Given the description of an element on the screen output the (x, y) to click on. 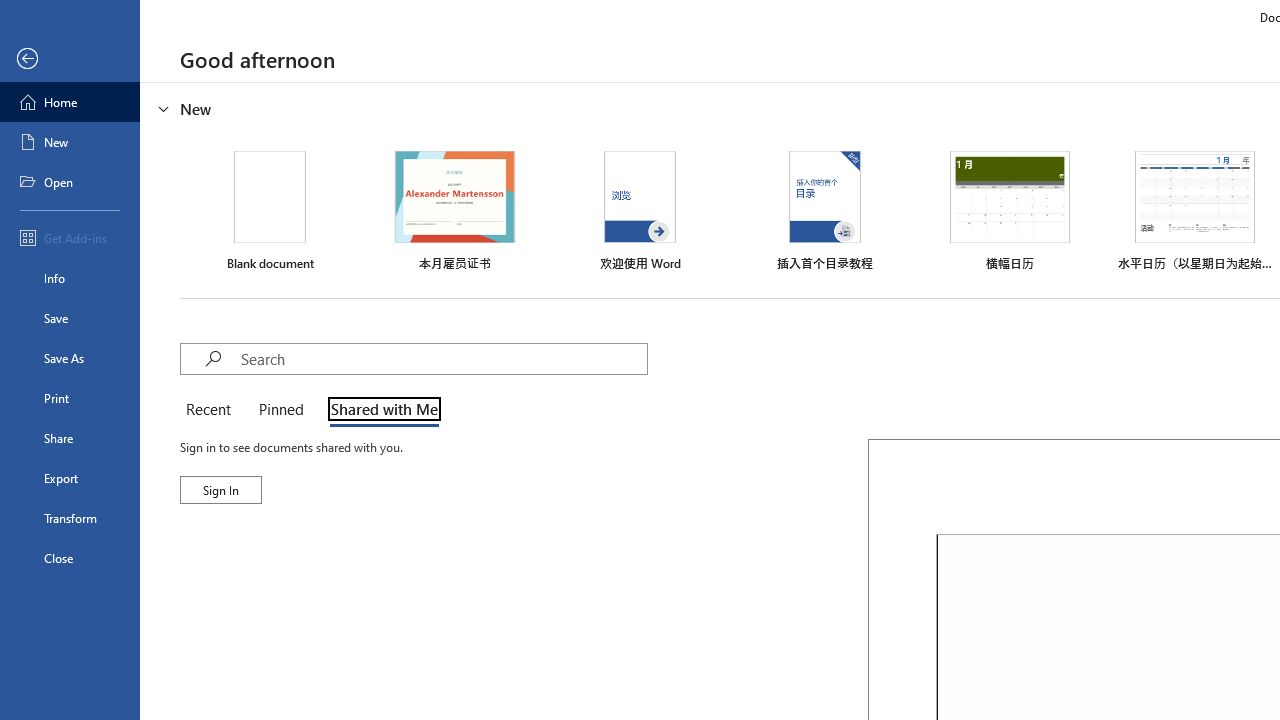
Blank document (269, 211)
Save As (69, 357)
Transform (69, 517)
Print (69, 398)
Back (69, 59)
Hide or show region (164, 108)
